Given the description of an element on the screen output the (x, y) to click on. 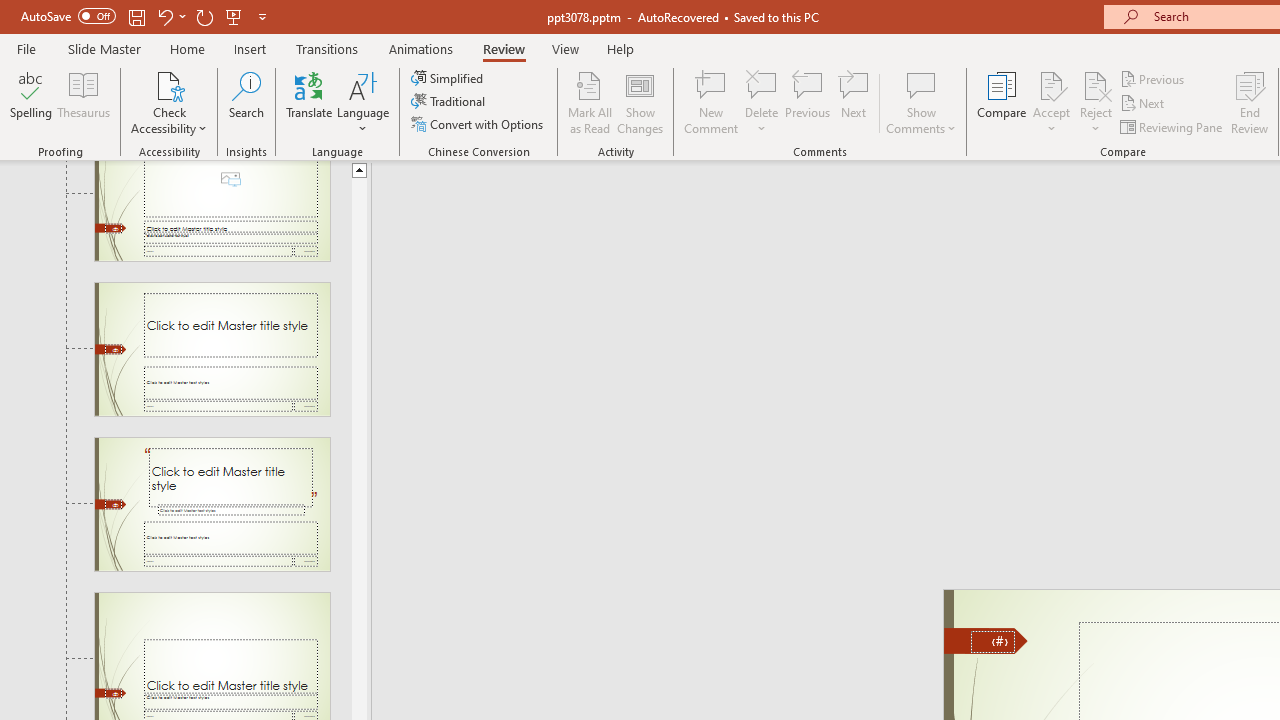
Repeat Style (341, 31)
